Given the description of an element on the screen output the (x, y) to click on. 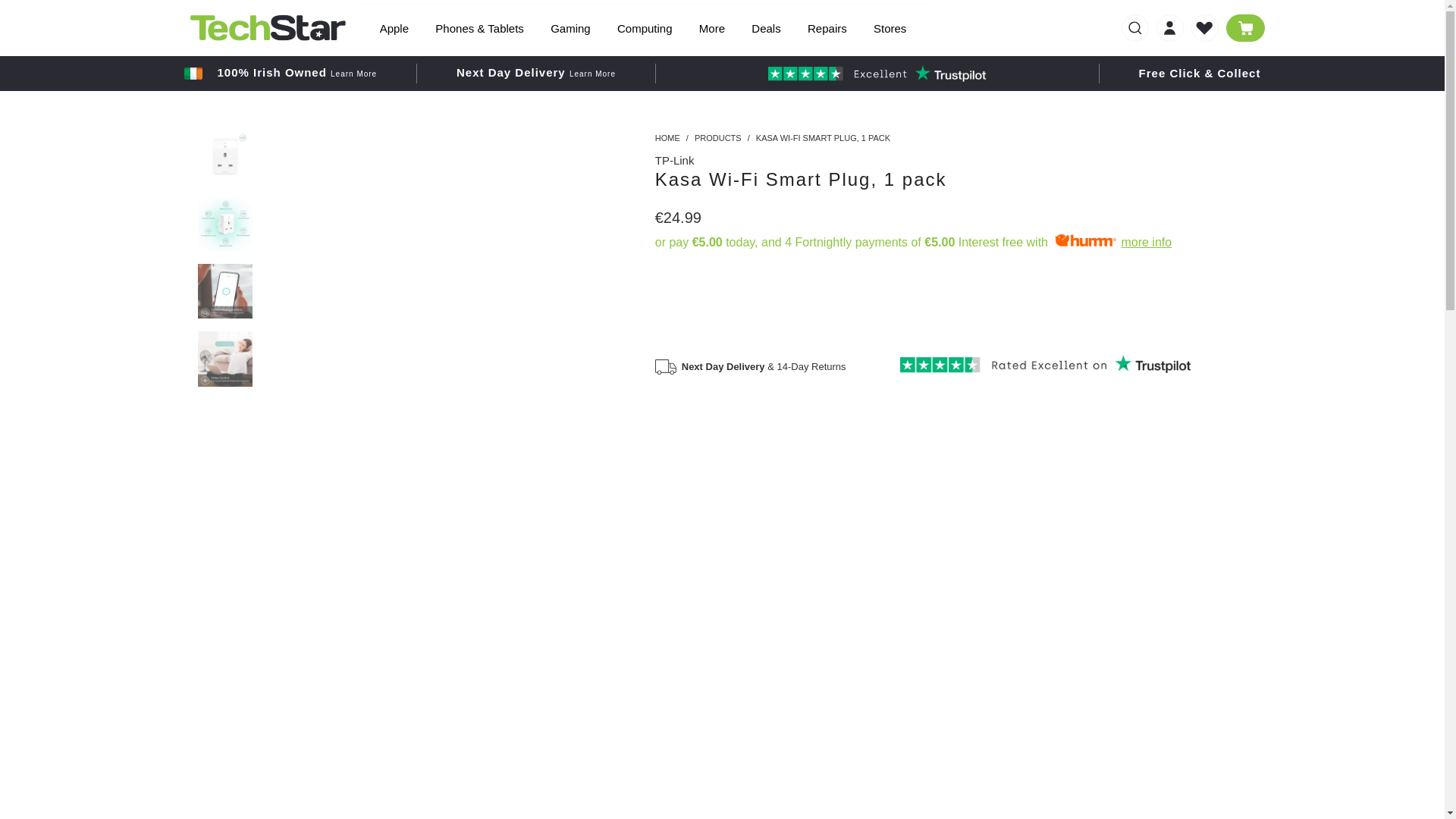
TP-Link (674, 160)
Computing (644, 28)
Products (717, 137)
Learn More (353, 73)
Our Story (353, 73)
Repairs (827, 28)
Gaming (570, 28)
Learn More (592, 73)
TechStar (667, 137)
Stores (889, 28)
